Given the description of an element on the screen output the (x, y) to click on. 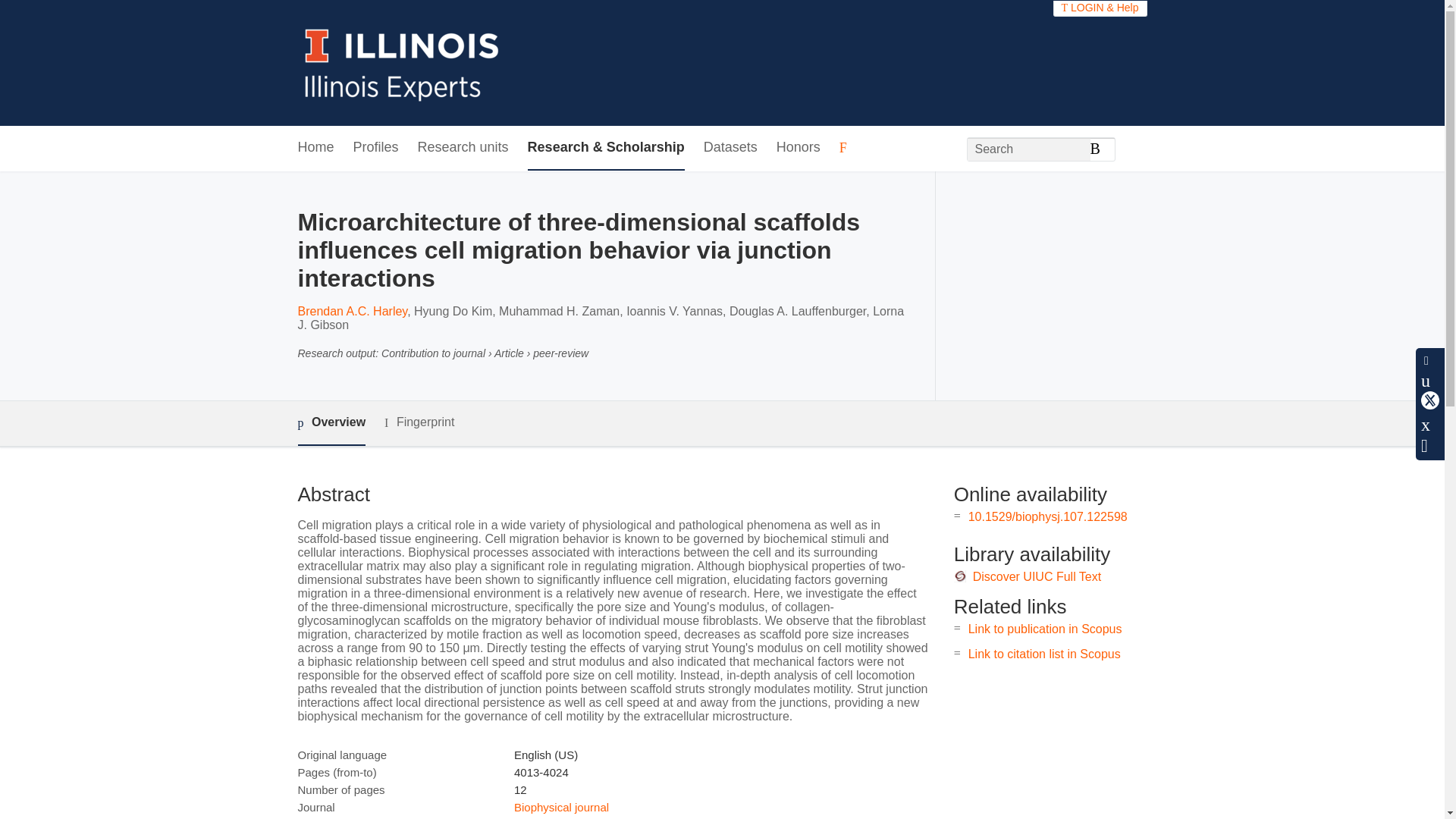
Profiles (375, 148)
Discover UIUC Full Text (1037, 576)
Biophysical journal (560, 807)
Link to publication in Scopus (1045, 628)
Research units (462, 148)
Home (315, 148)
Link to citation list in Scopus (1044, 653)
Overview (331, 423)
Datasets (730, 148)
Honors (798, 148)
Fingerprint (419, 422)
University of Illinois Urbana-Champaign Home (402, 62)
Brendan A.C. Harley (352, 310)
